Given the description of an element on the screen output the (x, y) to click on. 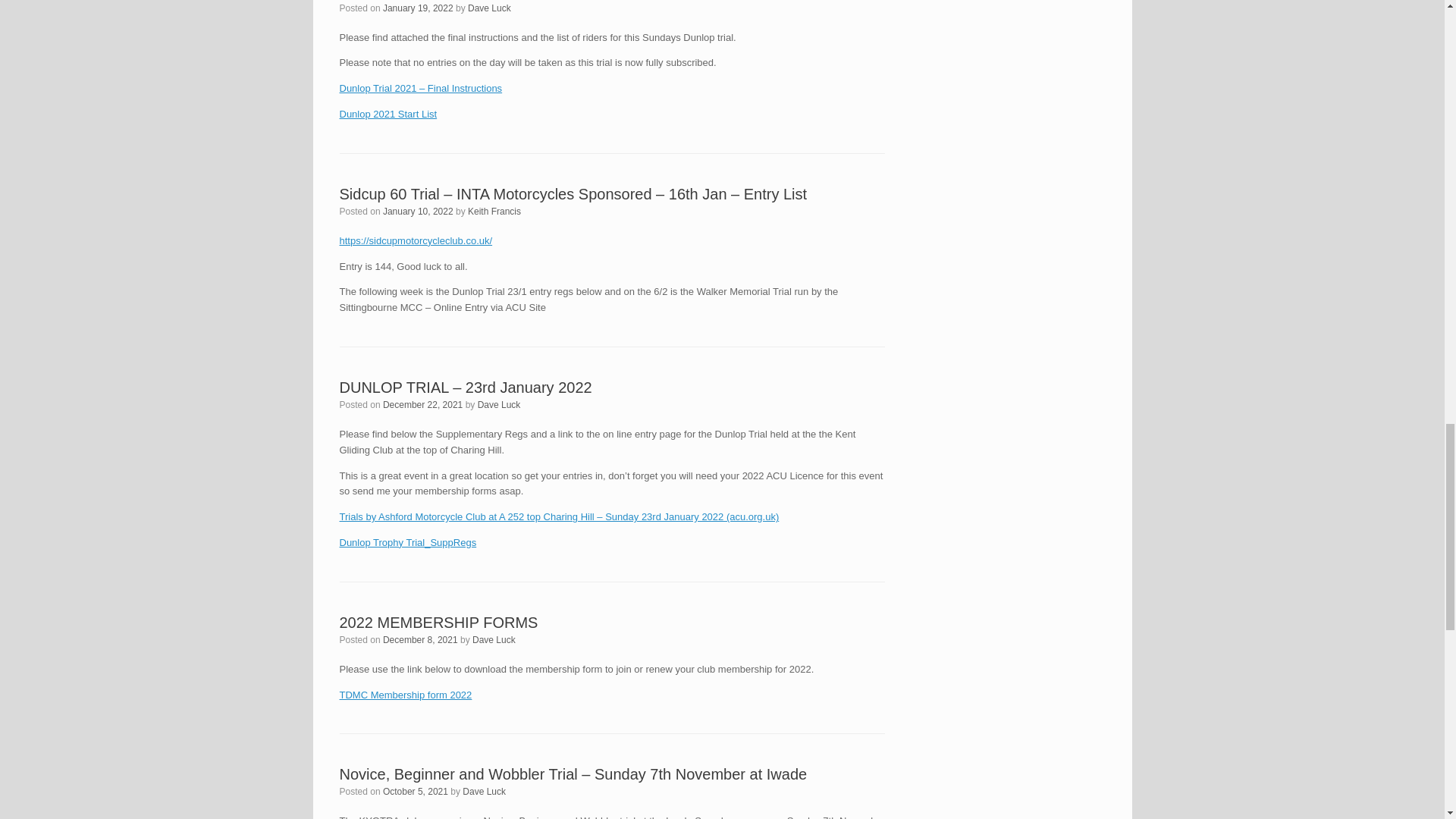
Dave Luck (489, 8)
December 22, 2021 (422, 404)
Keith Francis (494, 211)
January 10, 2022 (417, 211)
2022 MEMBERSHIP FORMS (438, 622)
December 8, 2021 (420, 639)
Dunlop 2021 Start List (388, 113)
Dave Luck (499, 404)
January 19, 2022 (417, 8)
